Given the description of an element on the screen output the (x, y) to click on. 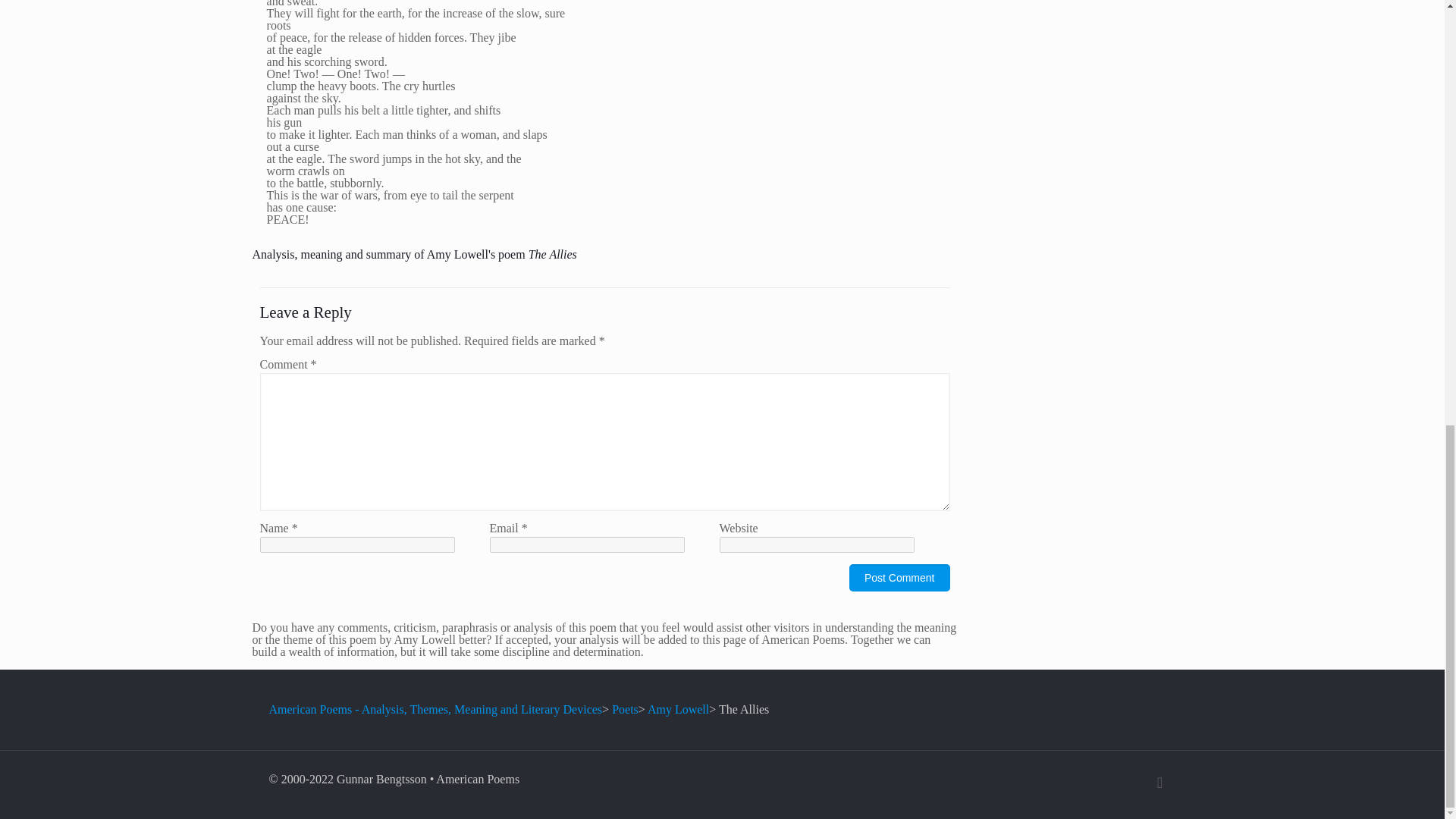
Poets (625, 708)
Go to Amy Lowell. (678, 708)
Go to Poets. (625, 708)
Post Comment (899, 577)
Post Comment (899, 577)
Amy Lowell (678, 708)
